Given the description of an element on the screen output the (x, y) to click on. 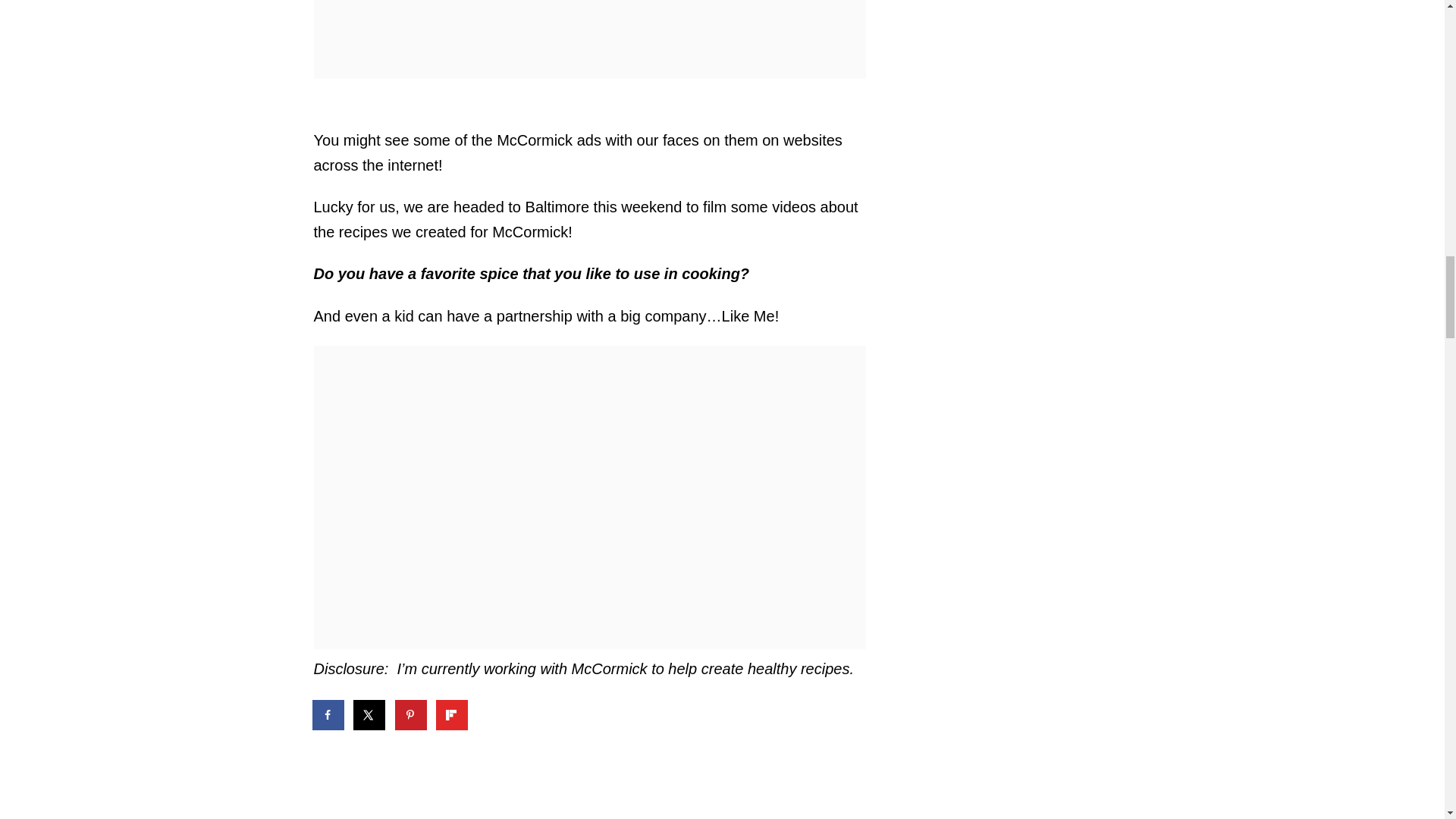
Save to Pinterest (411, 714)
Share on X (370, 714)
Share on Facebook (328, 714)
Share on Flipboard (452, 714)
